Given the description of an element on the screen output the (x, y) to click on. 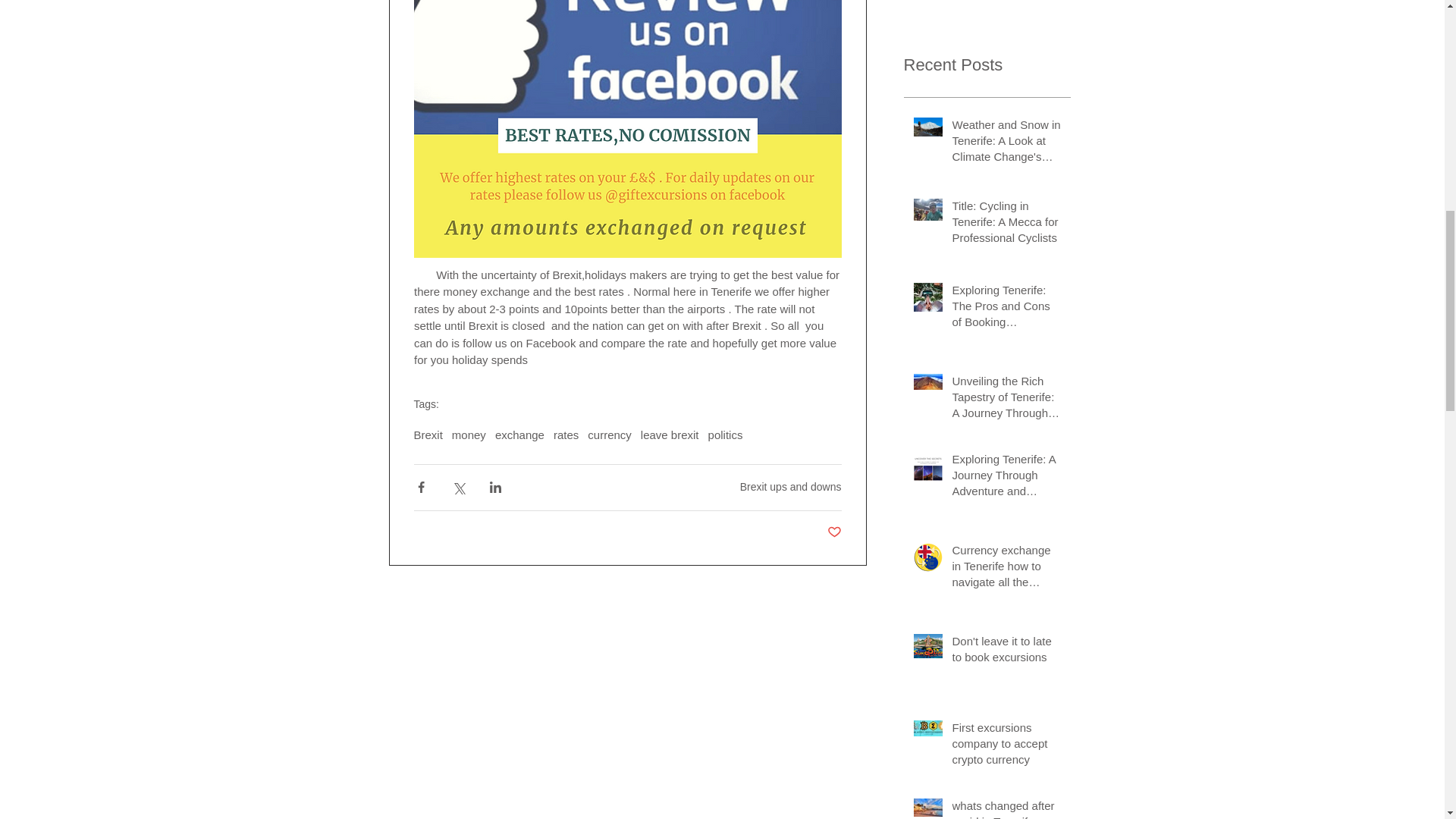
First excursions company to accept crypto currency (1006, 746)
rates (565, 434)
Brexit (427, 434)
politics (724, 434)
exchange (519, 434)
Post not marked as liked (834, 532)
Don't leave it to late to book excursions (1006, 651)
money (468, 434)
currency (609, 434)
leave brexit (669, 434)
